Given the description of an element on the screen output the (x, y) to click on. 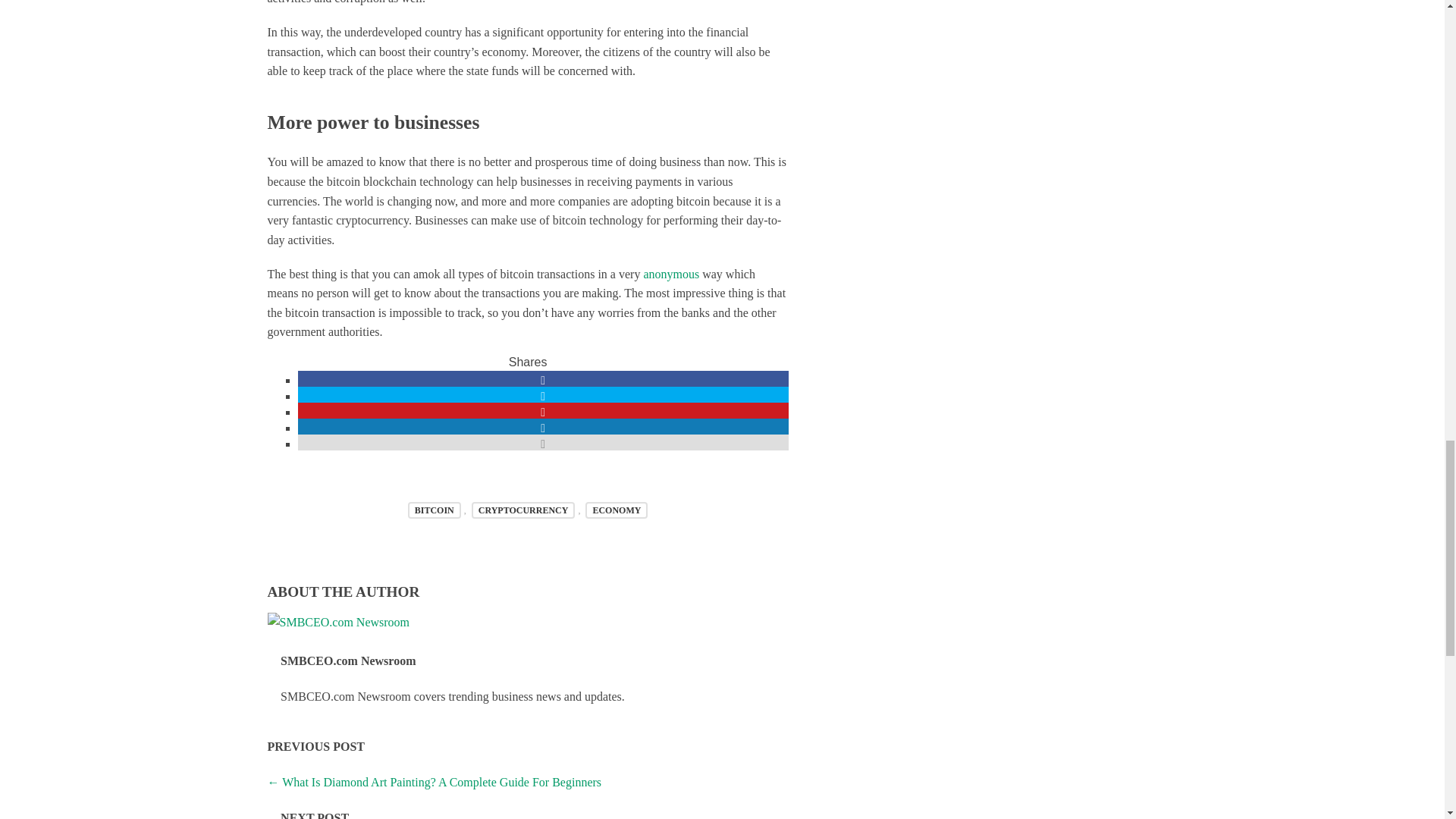
ECONOMY (616, 510)
CRYPTOCURRENCY (523, 510)
anonymous (670, 273)
BITCOIN (434, 510)
